Given the description of an element on the screen output the (x, y) to click on. 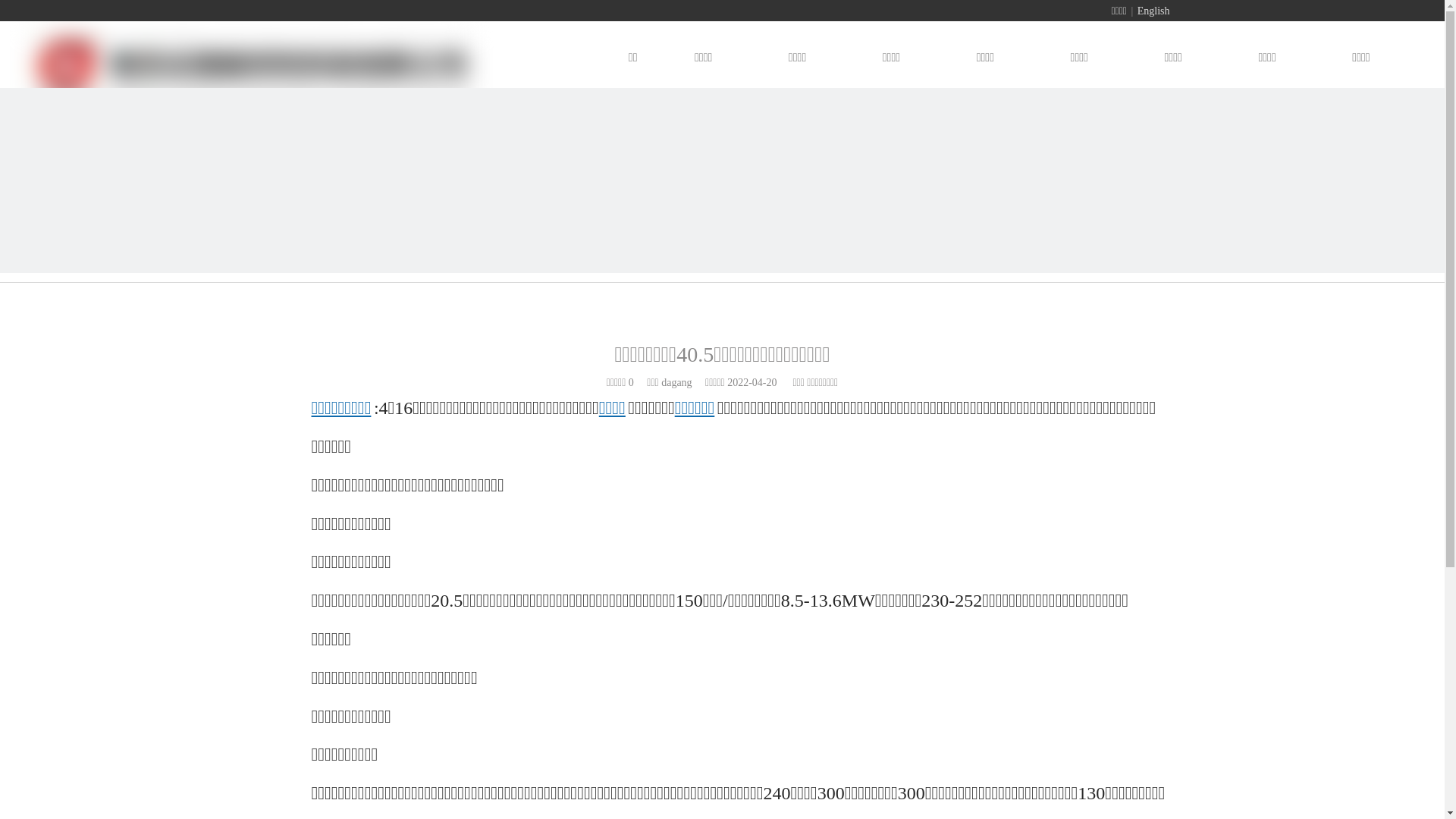
English Element type: text (1153, 11)
